Given the description of an element on the screen output the (x, y) to click on. 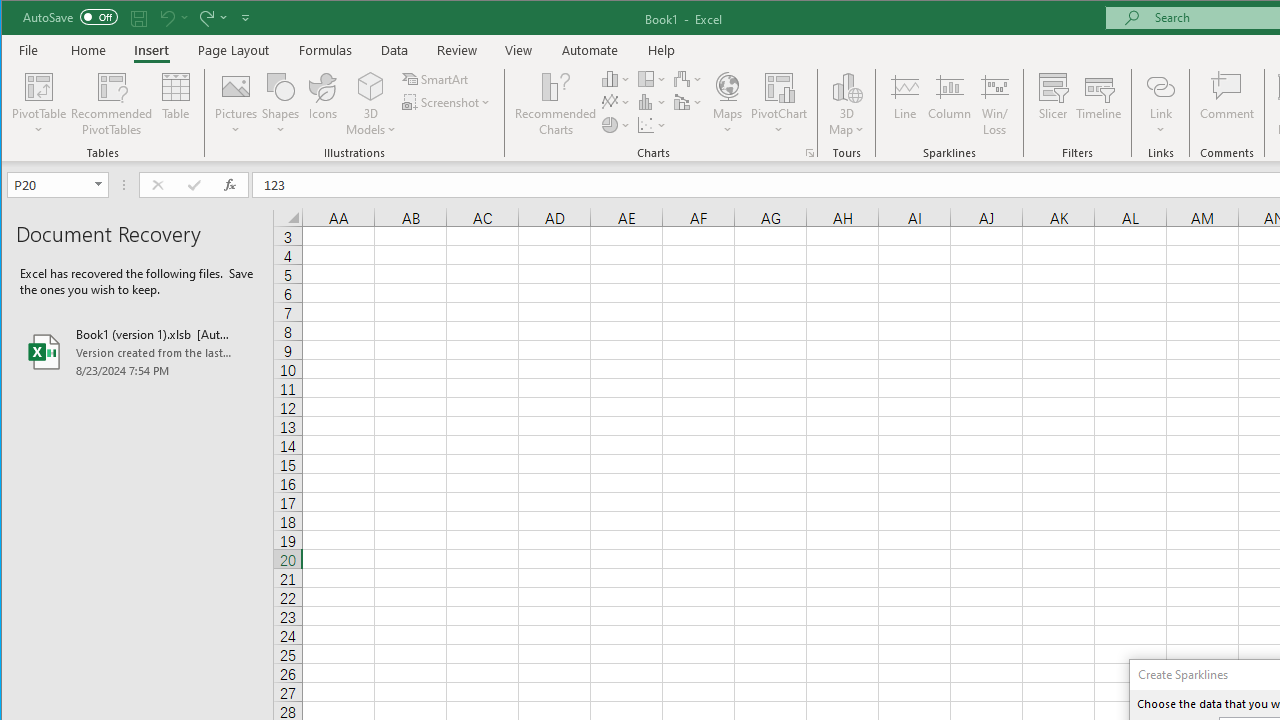
Screenshot (447, 101)
Pictures (235, 104)
Maps (727, 104)
Shapes (280, 104)
